Given the description of an element on the screen output the (x, y) to click on. 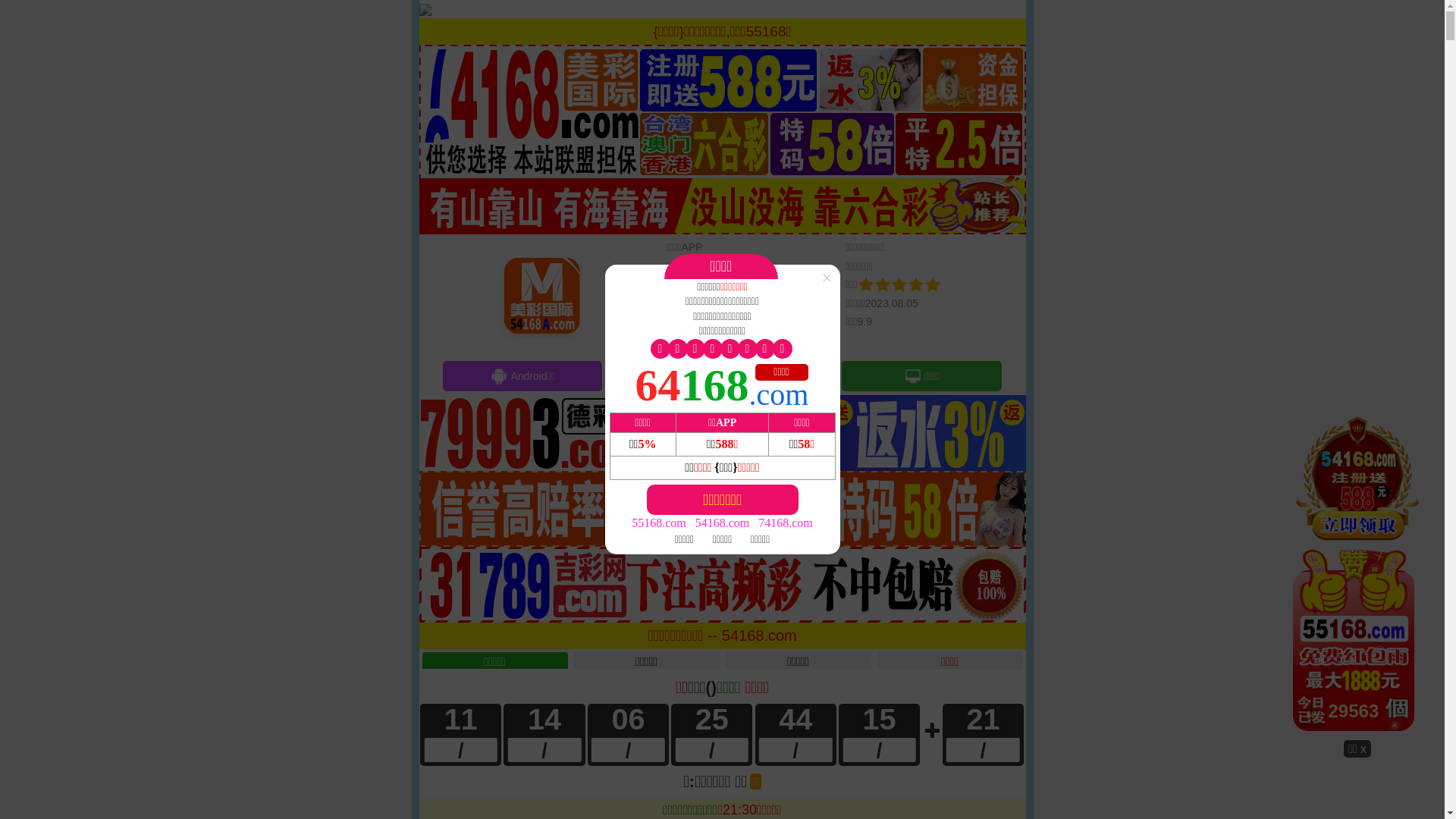
29189 Element type: text (1356, 576)
